Given the description of an element on the screen output the (x, y) to click on. 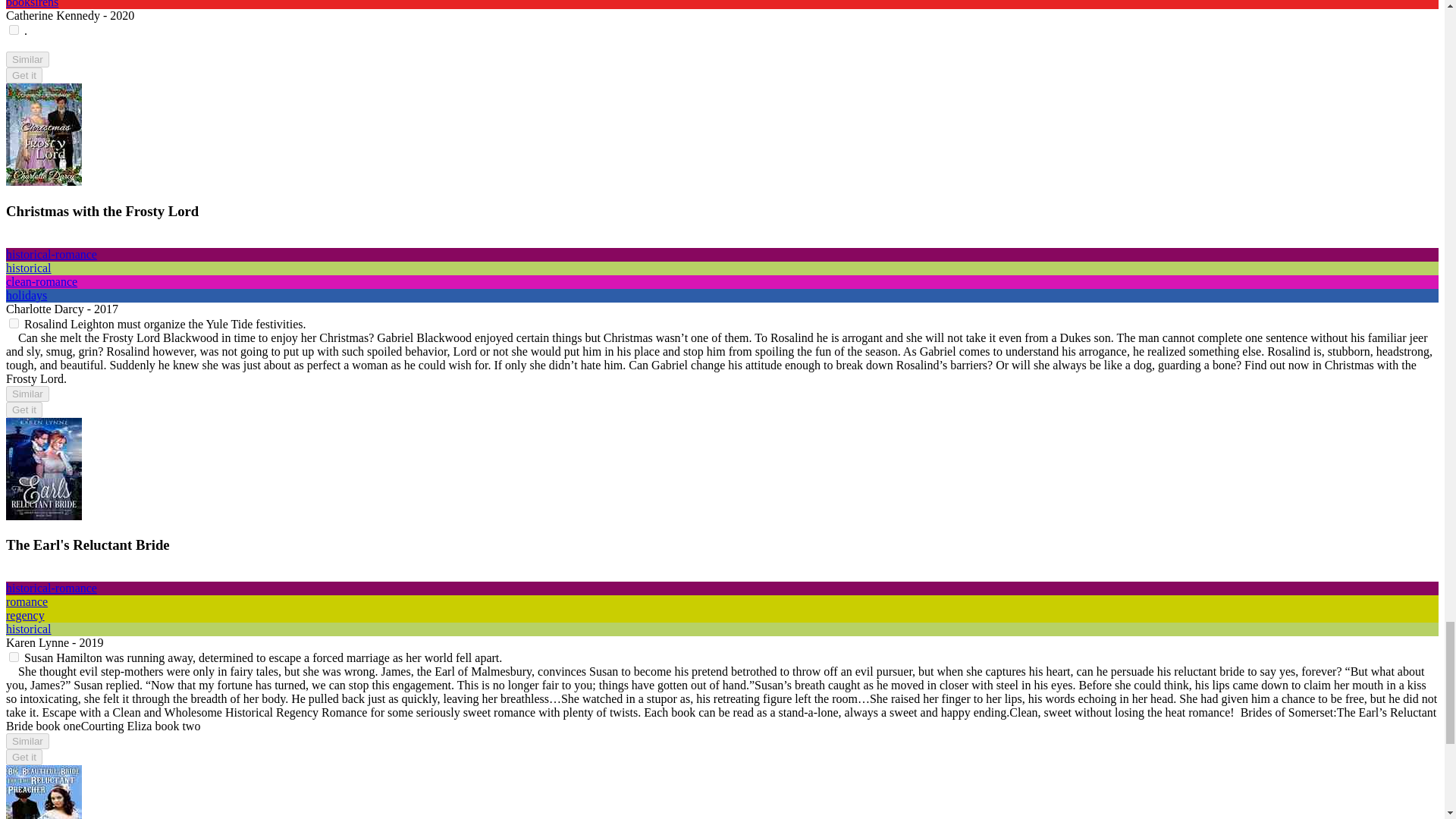
on (13, 30)
on (13, 323)
on (13, 656)
